Given the description of an element on the screen output the (x, y) to click on. 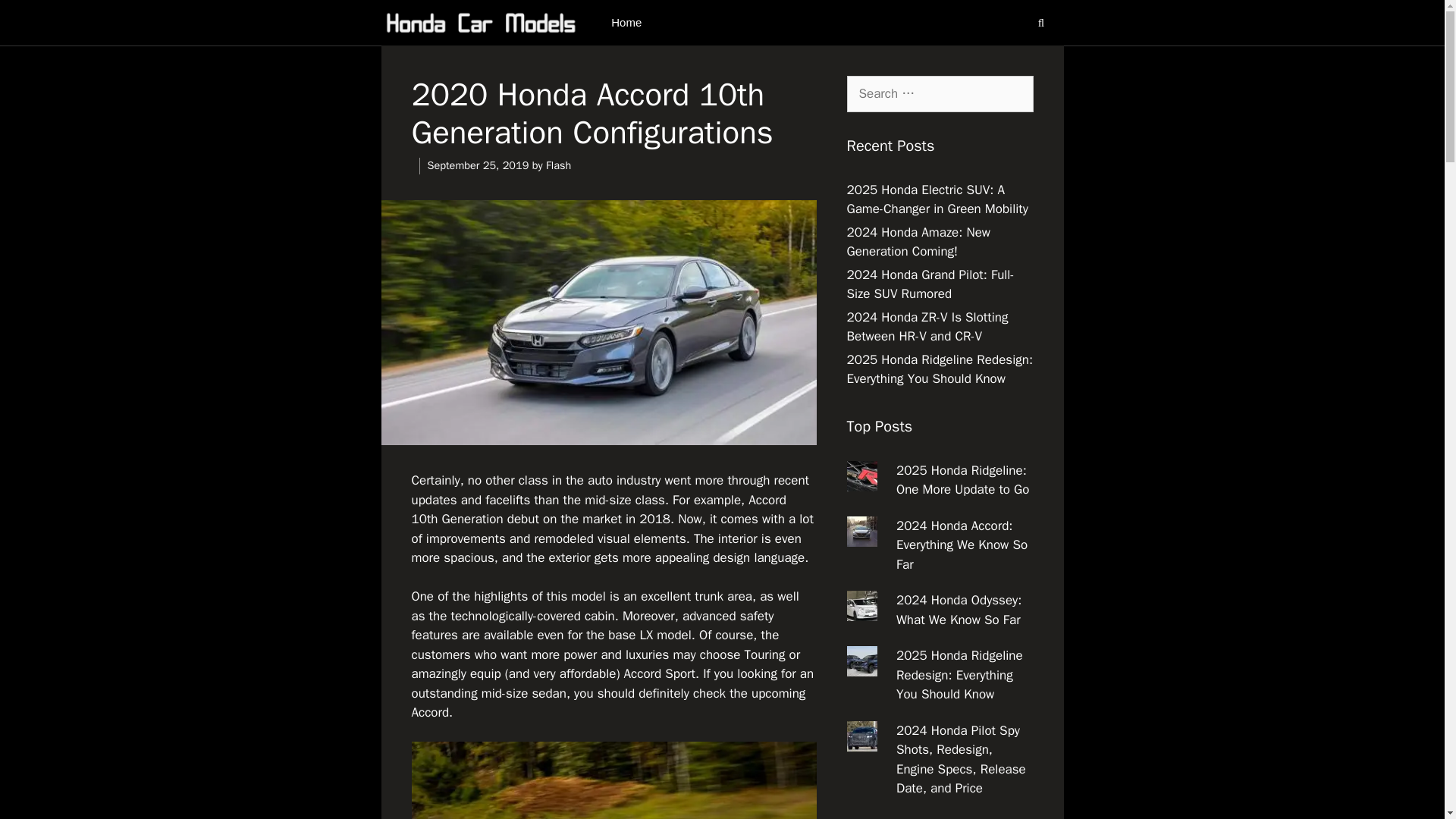
2024 Honda Odyssey: What We Know So Far (959, 610)
2025 Honda Ridgeline Redesign: Everything You Should Know (959, 674)
2024 Honda ZR-V Is Slotting Between HR-V and CR-V (926, 326)
2024 Honda Grand Pilot: Full-Size SUV Rumored (929, 284)
Honda Car Models (480, 22)
Search (35, 18)
Honda Car Models (484, 22)
2025 Honda Ridgeline Redesign: Everything You Should Know (938, 369)
View all posts by Flash (558, 164)
2025 Honda Ridgeline: One More Update to Go (962, 479)
2025 Honda Electric SUV: A Game-Changer in Green Mobility (936, 199)
Search for: (938, 94)
Flash (558, 164)
Home (625, 22)
